Given the description of an element on the screen output the (x, y) to click on. 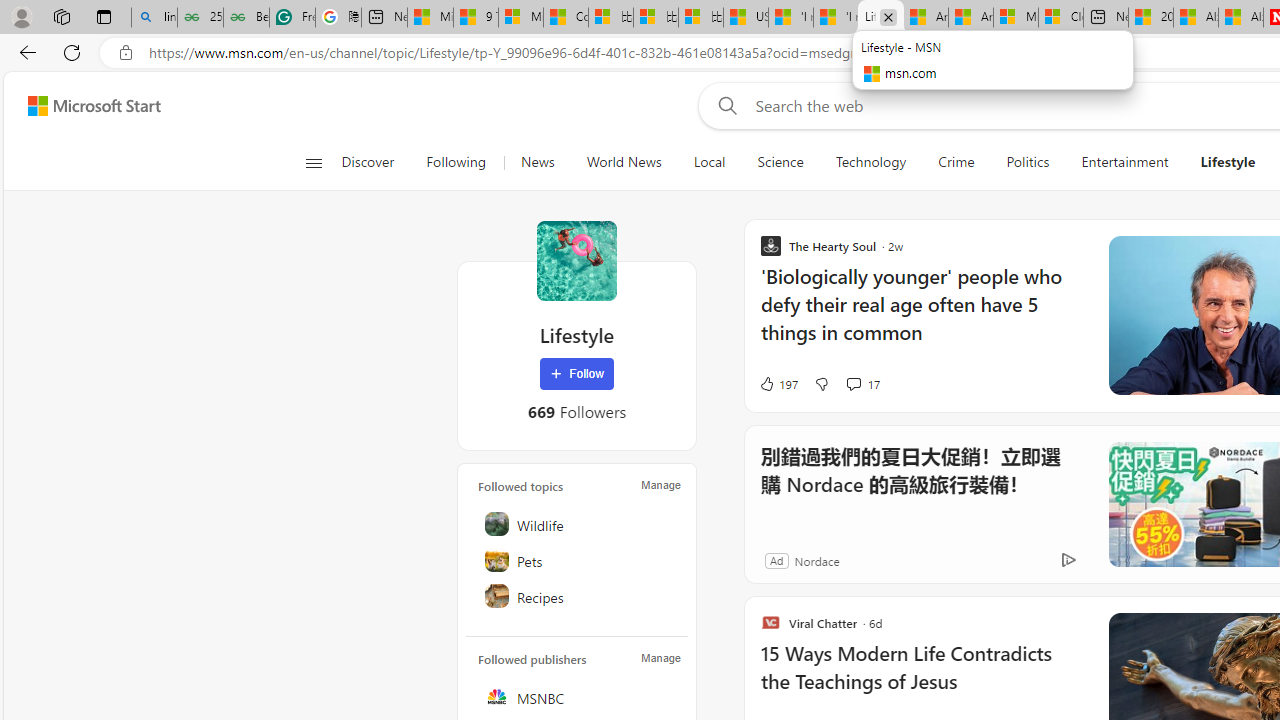
Class: button-glyph (313, 162)
View comments 17 Comment (852, 383)
25 Basic Linux Commands For Beginners - GeeksforGeeks (199, 17)
Following (456, 162)
USA TODAY - MSN (745, 17)
Pets (578, 560)
Crime (955, 162)
Discover (367, 162)
Follow (577, 373)
Science (780, 162)
